Given the description of an element on the screen output the (x, y) to click on. 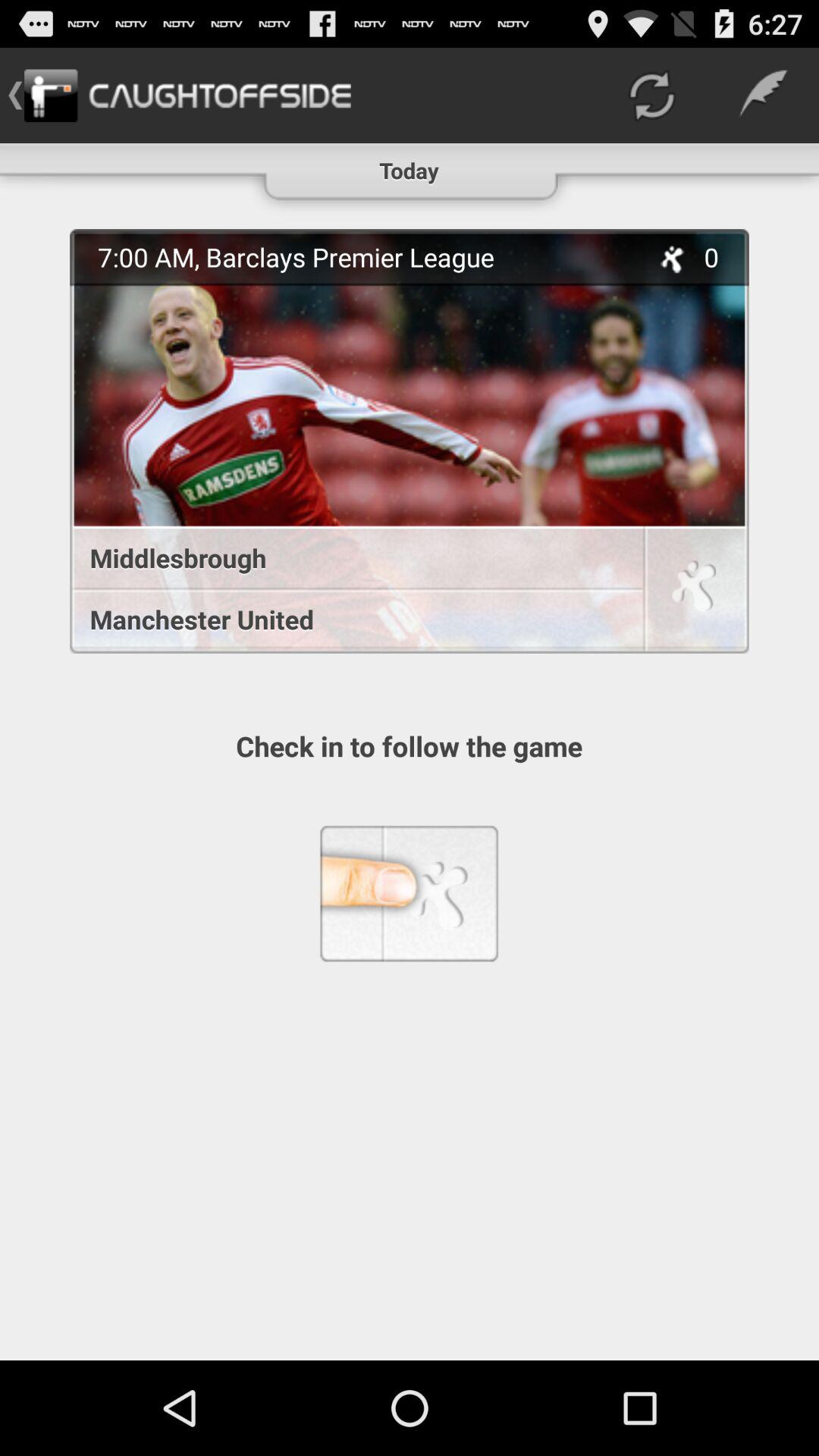
select item above the check in to item (409, 441)
